Given the description of an element on the screen output the (x, y) to click on. 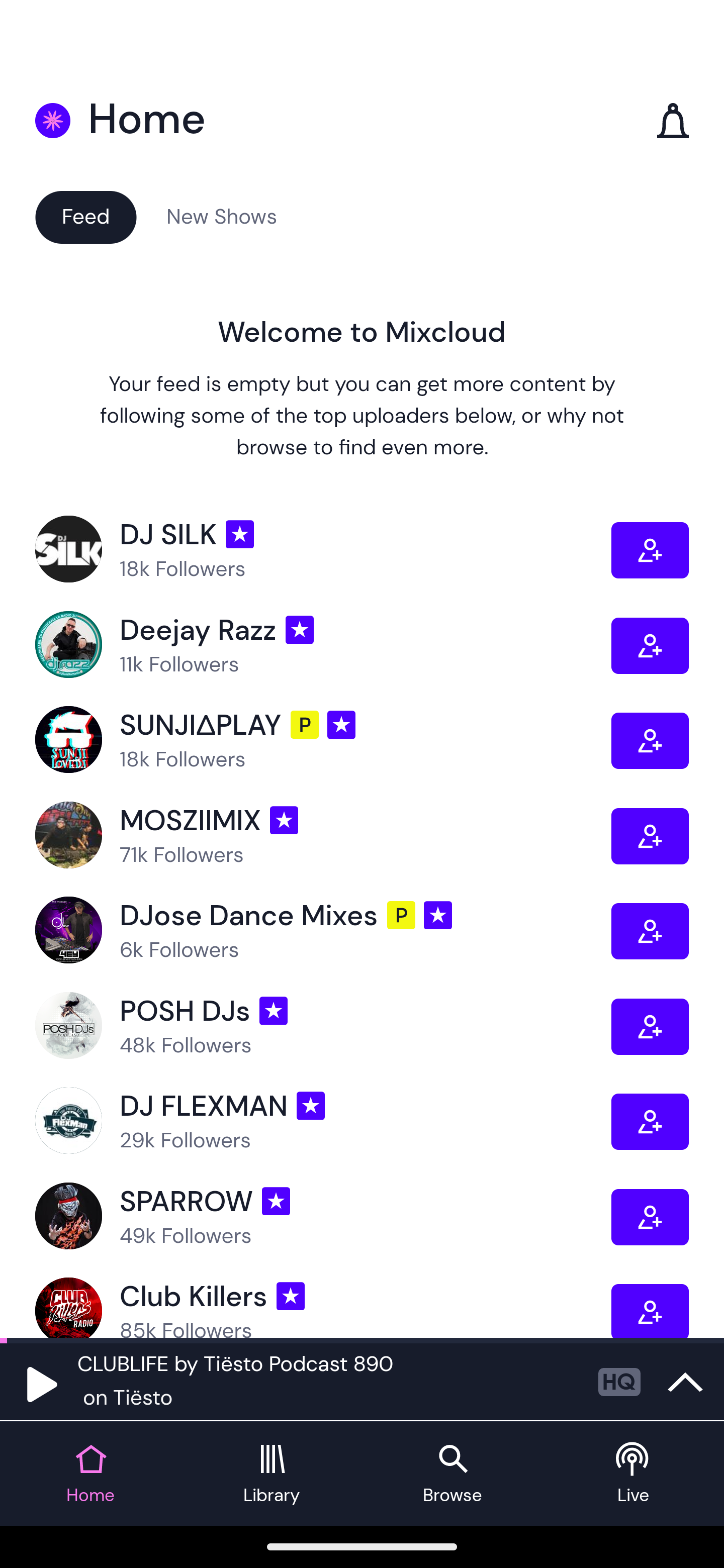
Feed (85, 216)
New Shows (221, 216)
DJ SILK, 18k Followers DJ SILK 18k Followers (323, 549)
Follow (649, 550)
Follow (649, 645)
SUNJI∆PLAY, 18k Followers SUNJI∆PLAY 18k Followers (323, 739)
Follow (649, 739)
MOSZIIMIX, 71k Followers MOSZIIMIX 71k Followers (323, 835)
Follow (649, 835)
Follow (649, 931)
POSH DJs, 48k Followers POSH DJs 48k Followers (323, 1026)
Follow (649, 1026)
DJ FLEXMAN, 29k Followers DJ FLEXMAN 29k Followers (323, 1120)
Follow (649, 1120)
SPARROW, 49k Followers SPARROW 49k Followers (323, 1216)
Follow (649, 1216)
Follow (649, 1310)
Home tab Home (90, 1473)
Library tab Library (271, 1473)
Browse tab Browse (452, 1473)
Live tab Live (633, 1473)
